Given the description of an element on the screen output the (x, y) to click on. 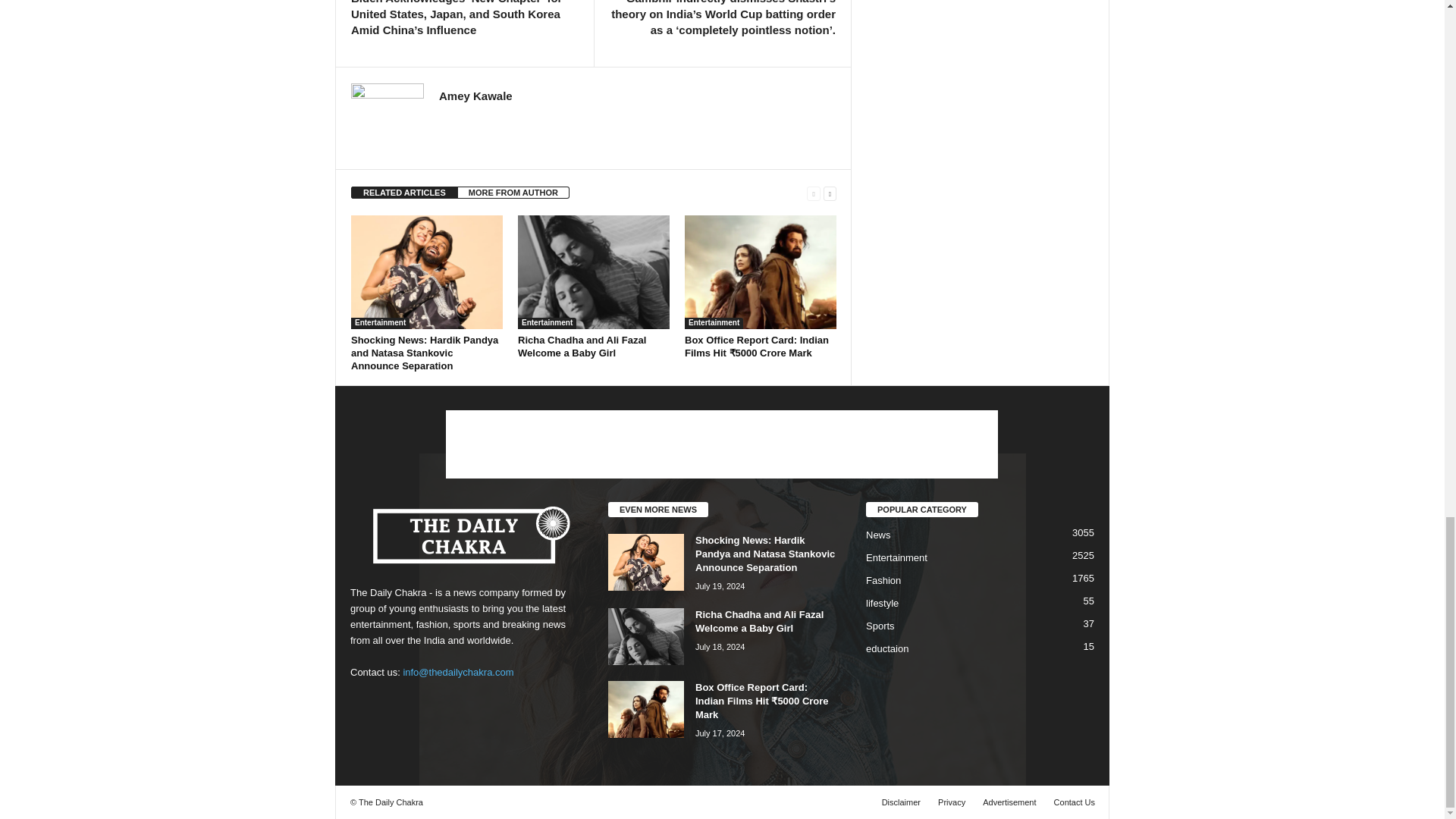
Richa Chadha and Ali Fazal Welcome a Baby Girl (593, 272)
The Daily Chakra - News Redefined (464, 535)
Advertisement (721, 444)
Richa Chadha and Ali Fazal Welcome a Baby Girl (582, 346)
